Given the description of an element on the screen output the (x, y) to click on. 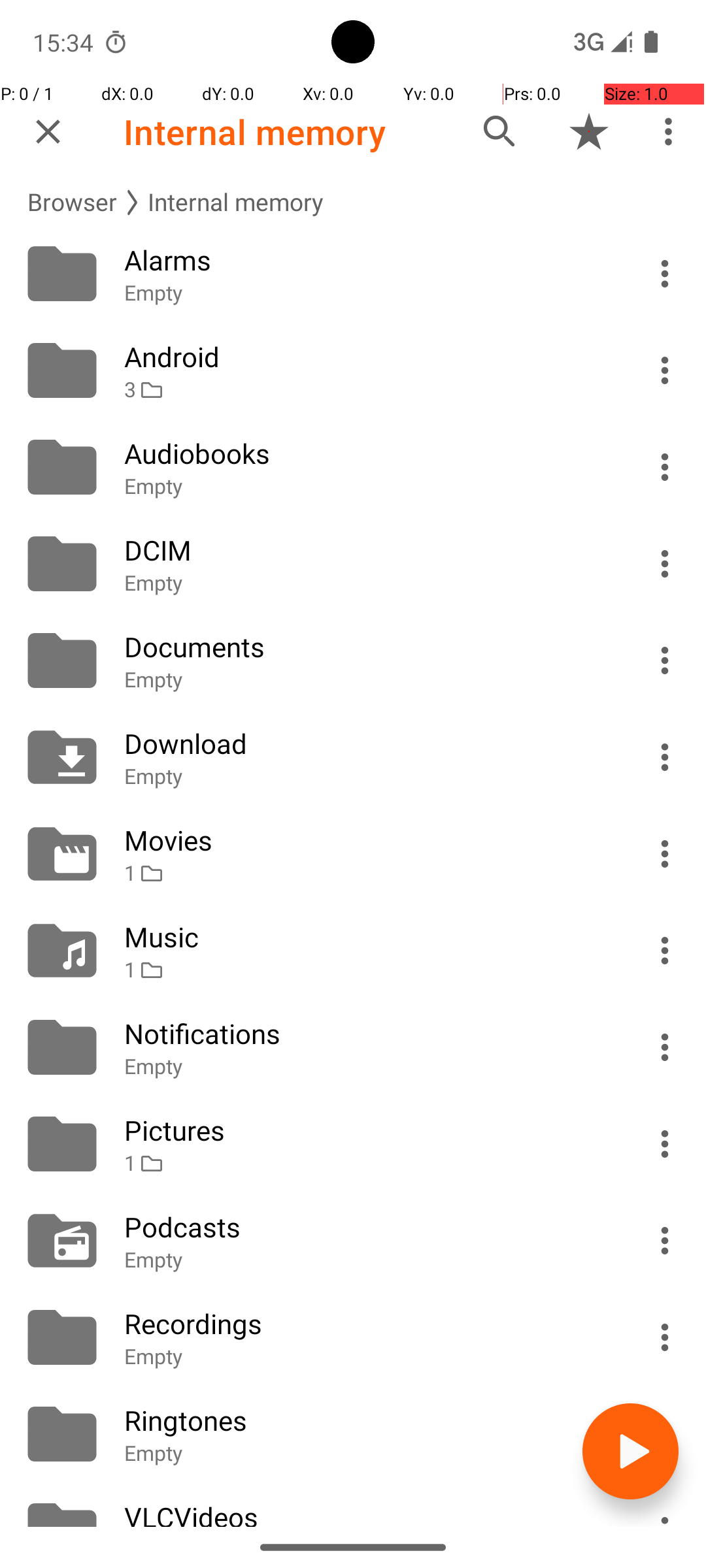
Folder: Alarms, Empty Element type: android.view.ViewGroup (353, 273)
Folder: Android, 3 subfolders Element type: android.view.ViewGroup (353, 370)
Folder: Audiobooks, Empty Element type: android.view.ViewGroup (353, 466)
Folder: DCIM, Empty Element type: android.view.ViewGroup (353, 563)
Folder: Documents, Empty Element type: android.view.ViewGroup (353, 660)
Folder: Download, Empty Element type: android.view.ViewGroup (353, 756)
Folder: Movies, 1 subfolder Element type: android.view.ViewGroup (353, 853)
Folder: Music, 1 subfolder Element type: android.view.ViewGroup (353, 950)
Folder: Notifications, Empty Element type: android.view.ViewGroup (353, 1046)
Folder: Pictures, 1 subfolder Element type: android.view.ViewGroup (353, 1143)
Folder: Podcasts, Empty Element type: android.view.ViewGroup (353, 1240)
Folder: Recordings, Empty Element type: android.view.ViewGroup (353, 1337)
Folder: Ringtones, Empty Element type: android.view.ViewGroup (353, 1433)
Folder: VLCVideos, 6 media files Element type: android.view.ViewGroup (353, 1504)
Android Element type: android.widget.TextView (366, 356)
3 §*§ Element type: android.widget.TextView (366, 389)
Audiobooks Element type: android.widget.TextView (366, 452)
Recordings Element type: android.widget.TextView (366, 1322)
Ringtones Element type: android.widget.TextView (366, 1419)
